Given the description of an element on the screen output the (x, y) to click on. 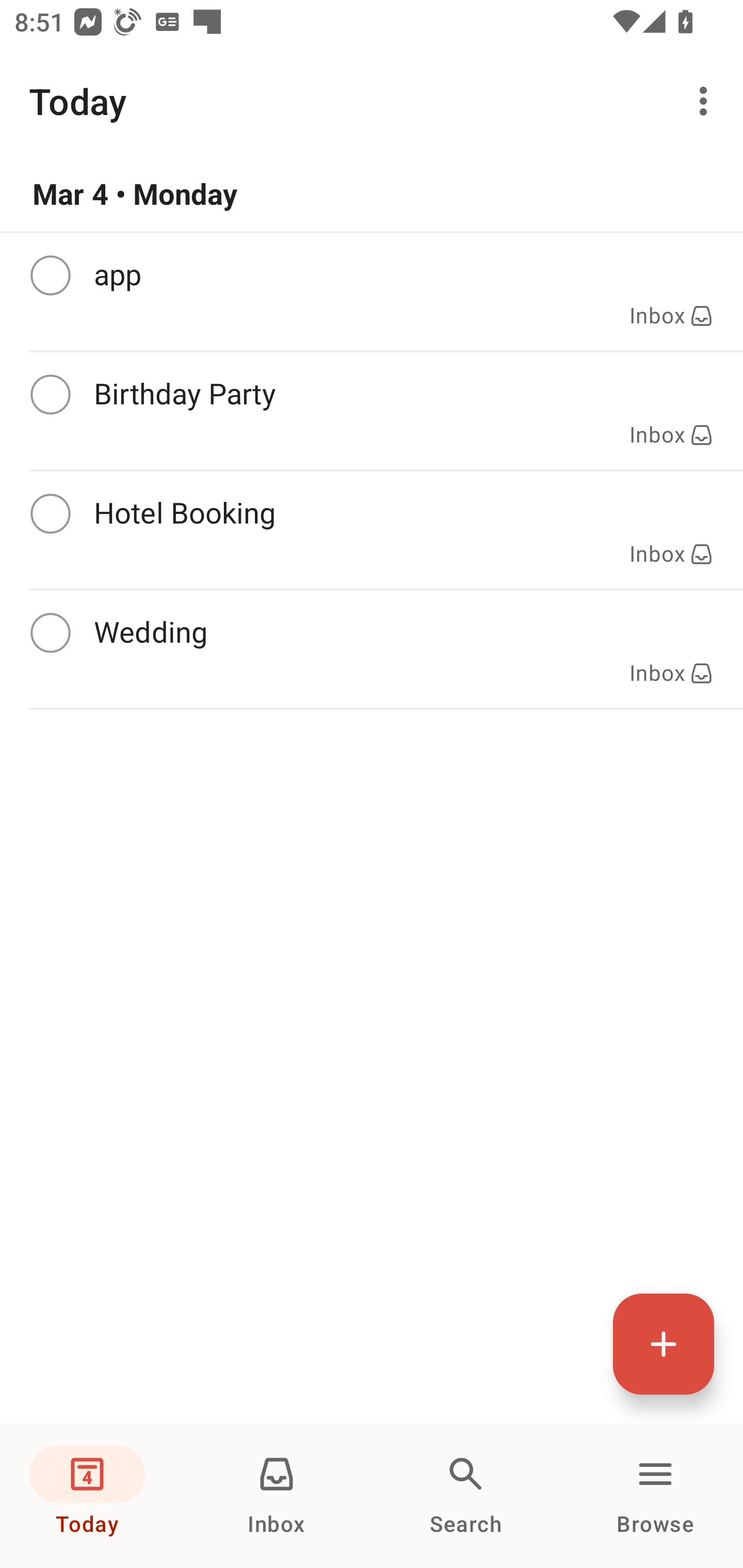
Today More options (371, 100)
More options (706, 101)
Mar 4 • Monday (371, 194)
Complete app Inbox (371, 291)
Complete (50, 275)
Complete Birthday Party Inbox (371, 410)
Complete (50, 395)
Complete Hotel Booking Inbox (371, 529)
Complete (50, 514)
Complete Wedding Inbox (371, 649)
Complete (50, 633)
Quick add (663, 1343)
Inbox (276, 1495)
Search (465, 1495)
Browse (655, 1495)
